Given the description of an element on the screen output the (x, y) to click on. 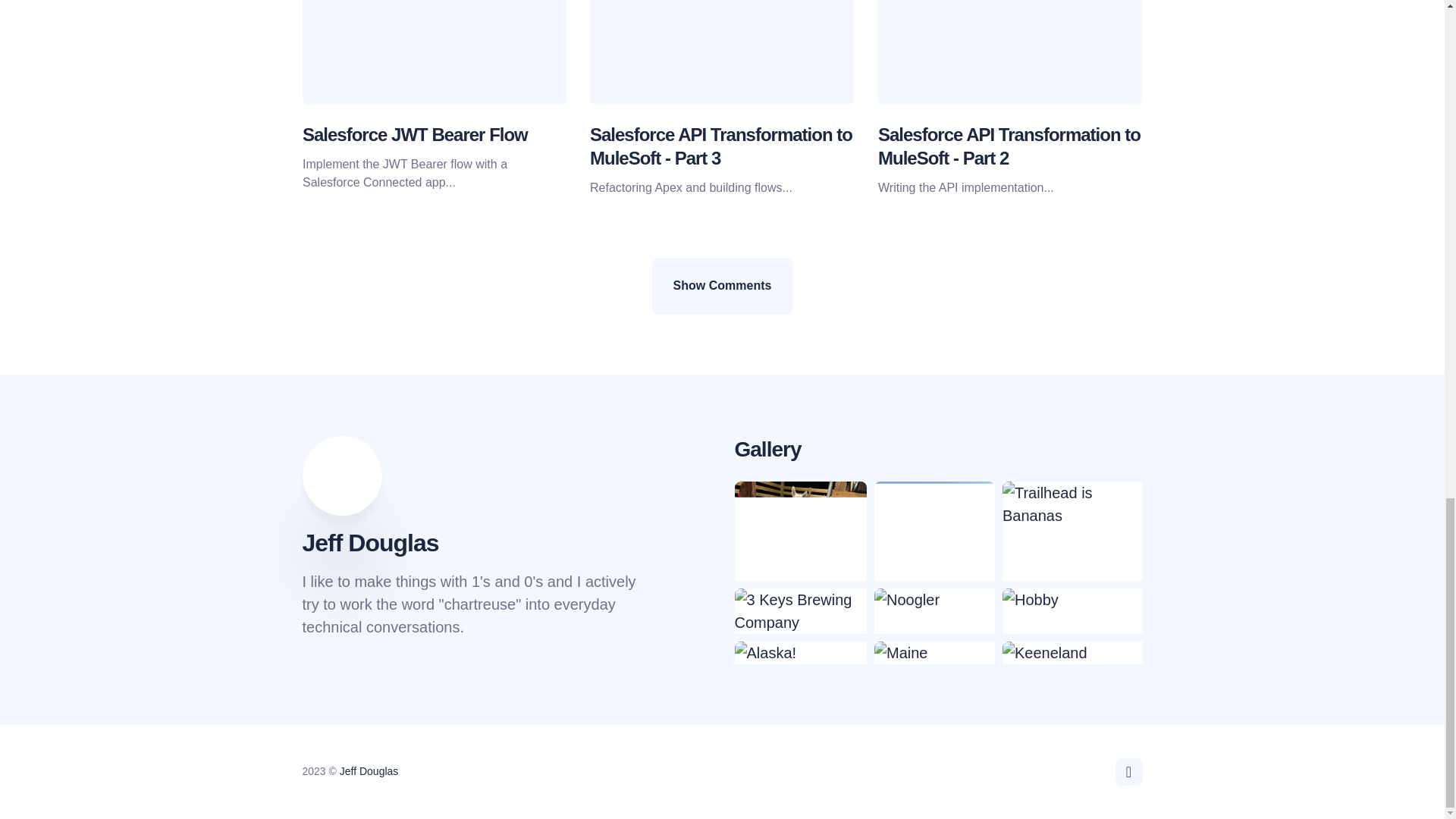
Salesforce JWT Bearer Flow (414, 134)
Top (1128, 771)
Show Comments (722, 285)
Salesforce API Transformation to MuleSoft - Part 3 (720, 146)
Jeff Douglas (368, 770)
Salesforce API Transformation to MuleSoft - Part 2 (1008, 146)
